Given the description of an element on the screen output the (x, y) to click on. 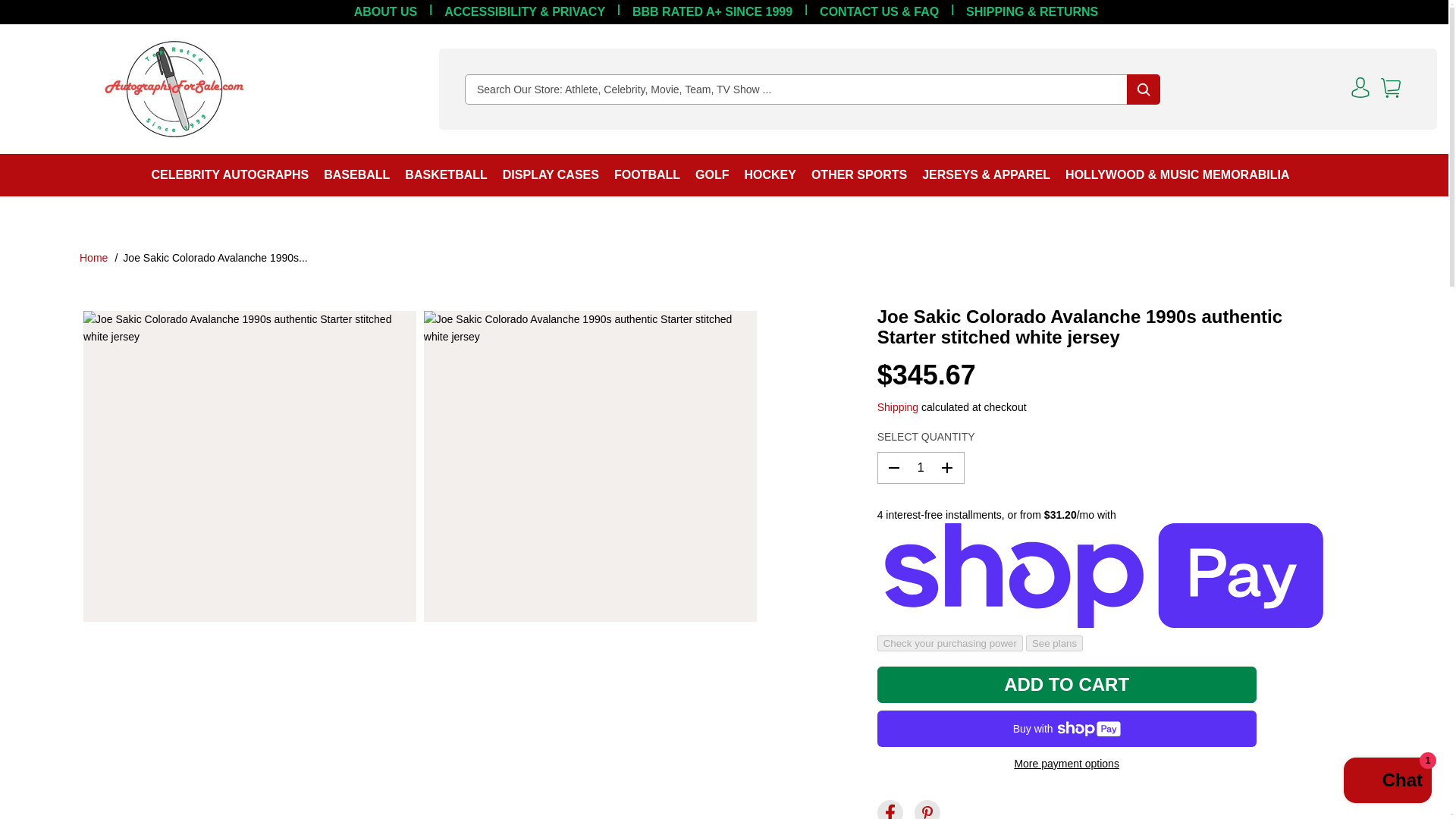
SKIP TO CONTENT (60, 18)
ABOUT US (383, 12)
Facebook (889, 809)
Cart (1391, 87)
Log in (1360, 87)
Shopify online store chat (1387, 781)
1 (920, 468)
Home (93, 257)
Pinterest (927, 809)
